Given the description of an element on the screen output the (x, y) to click on. 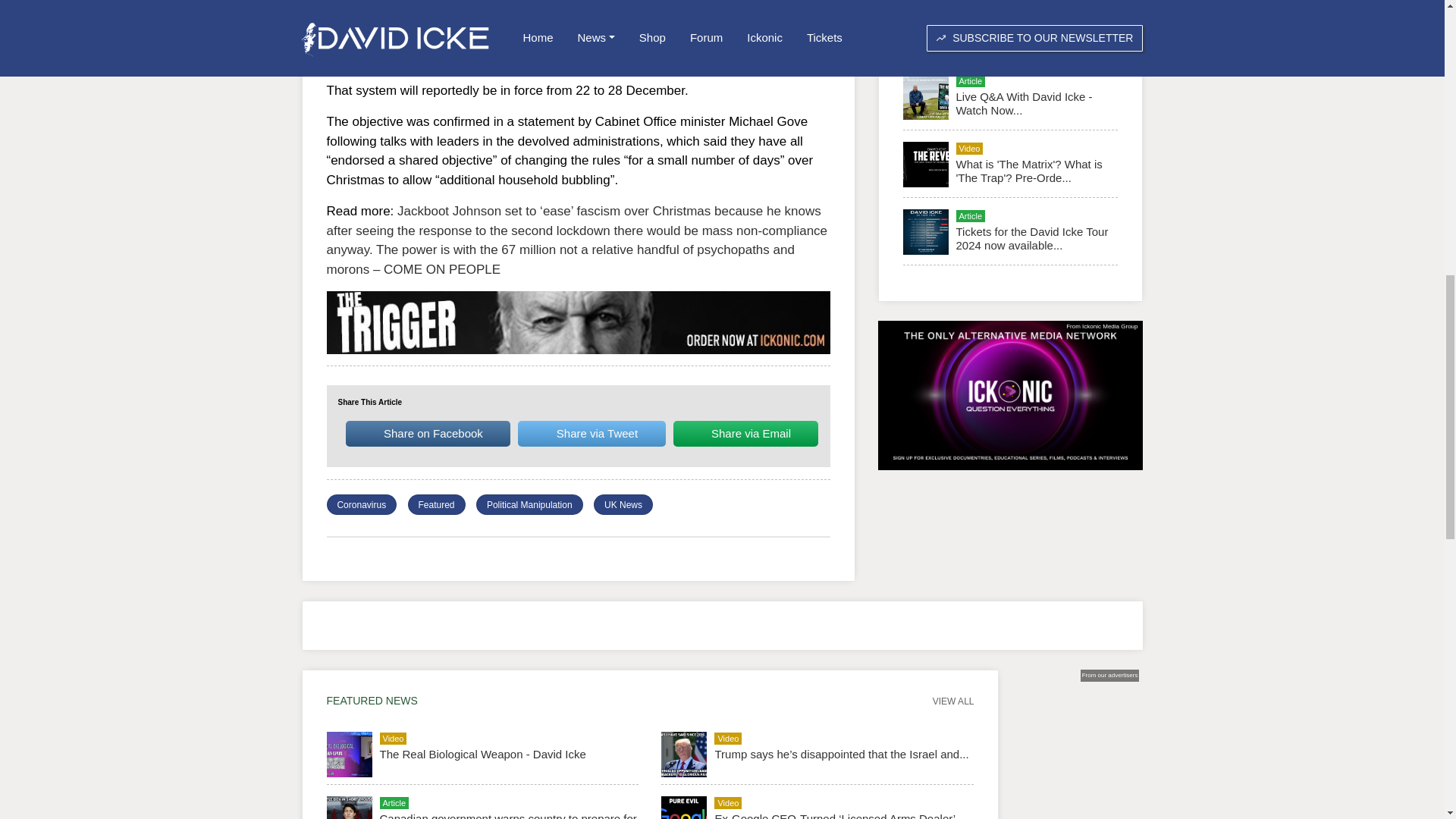
Political Manipulation (529, 504)
Share via Email (745, 433)
Share via Tweet (591, 433)
UK News (623, 504)
Share on Facebook (428, 433)
Coronavirus (360, 504)
Featured (436, 504)
